Given the description of an element on the screen output the (x, y) to click on. 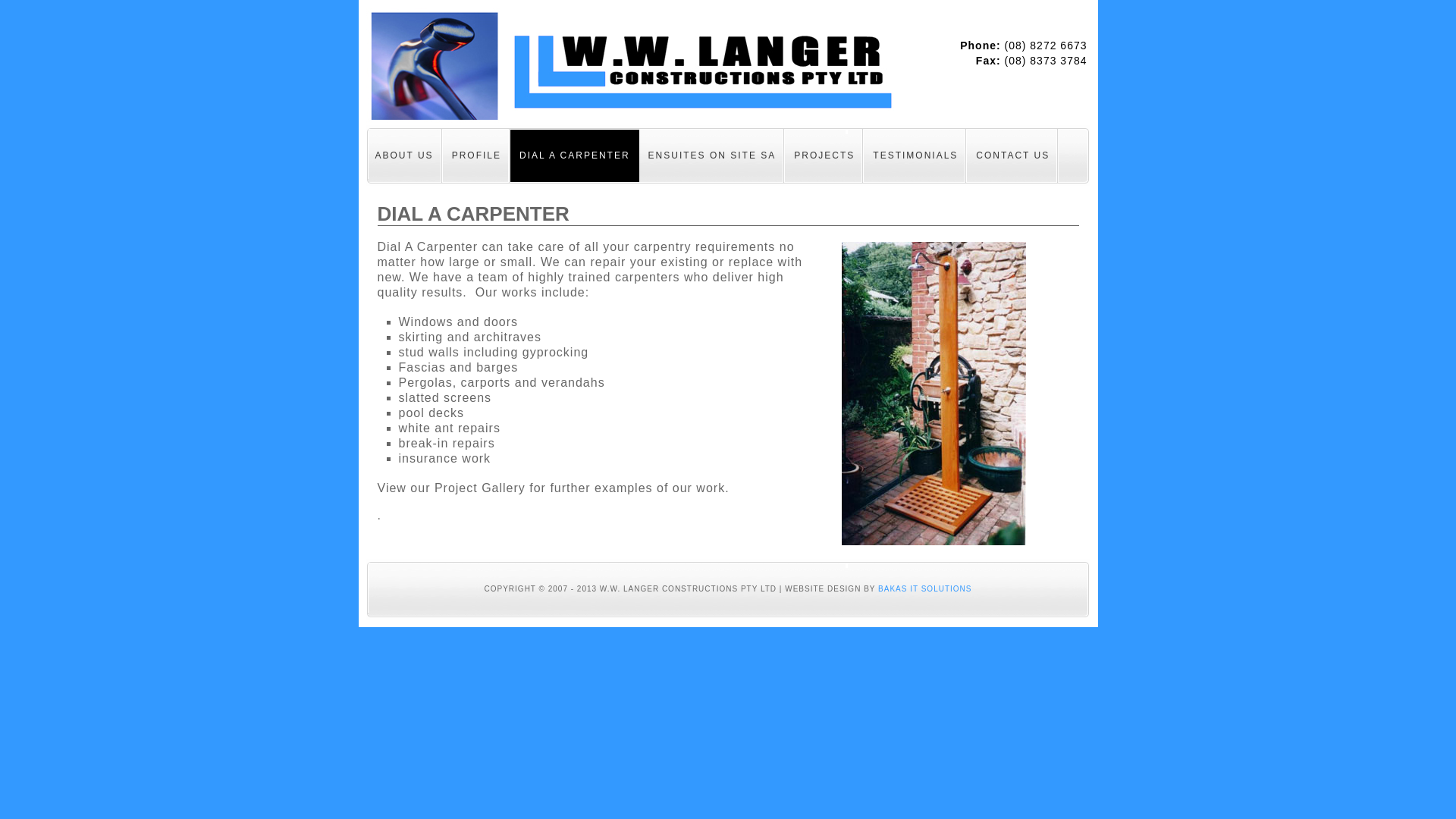
CONTACT US Element type: text (1012, 155)
PROFILE Element type: text (476, 155)
ENSUITES ON SITE SA Element type: text (712, 155)
TESTIMONIALS Element type: text (914, 155)
BAKAS IT SOLUTIONS Element type: text (924, 588)
PROJECTS Element type: text (823, 155)
DIAL A CARPENTER Element type: text (574, 155)
ABOUT US Element type: text (403, 155)
